Given the description of an element on the screen output the (x, y) to click on. 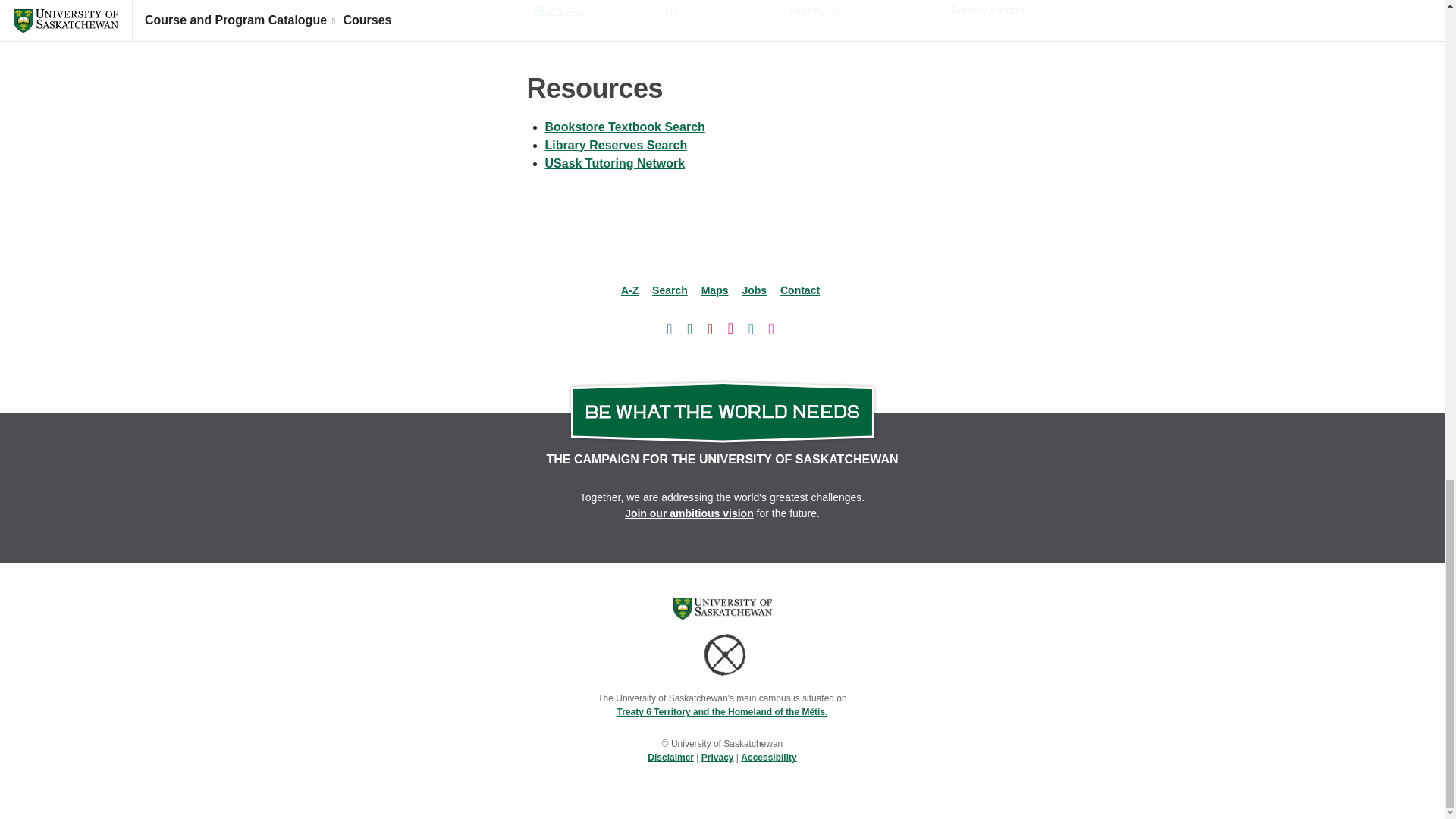
University of Saskatchewan (721, 608)
PLAN 343 (558, 10)
Bookstore Textbook Search (624, 126)
Jobs (754, 290)
Disclaimer (670, 757)
Search (669, 290)
Privacy (717, 757)
USask Tutoring Network (614, 163)
Contact (799, 290)
A-Z (630, 290)
